Given the description of an element on the screen output the (x, y) to click on. 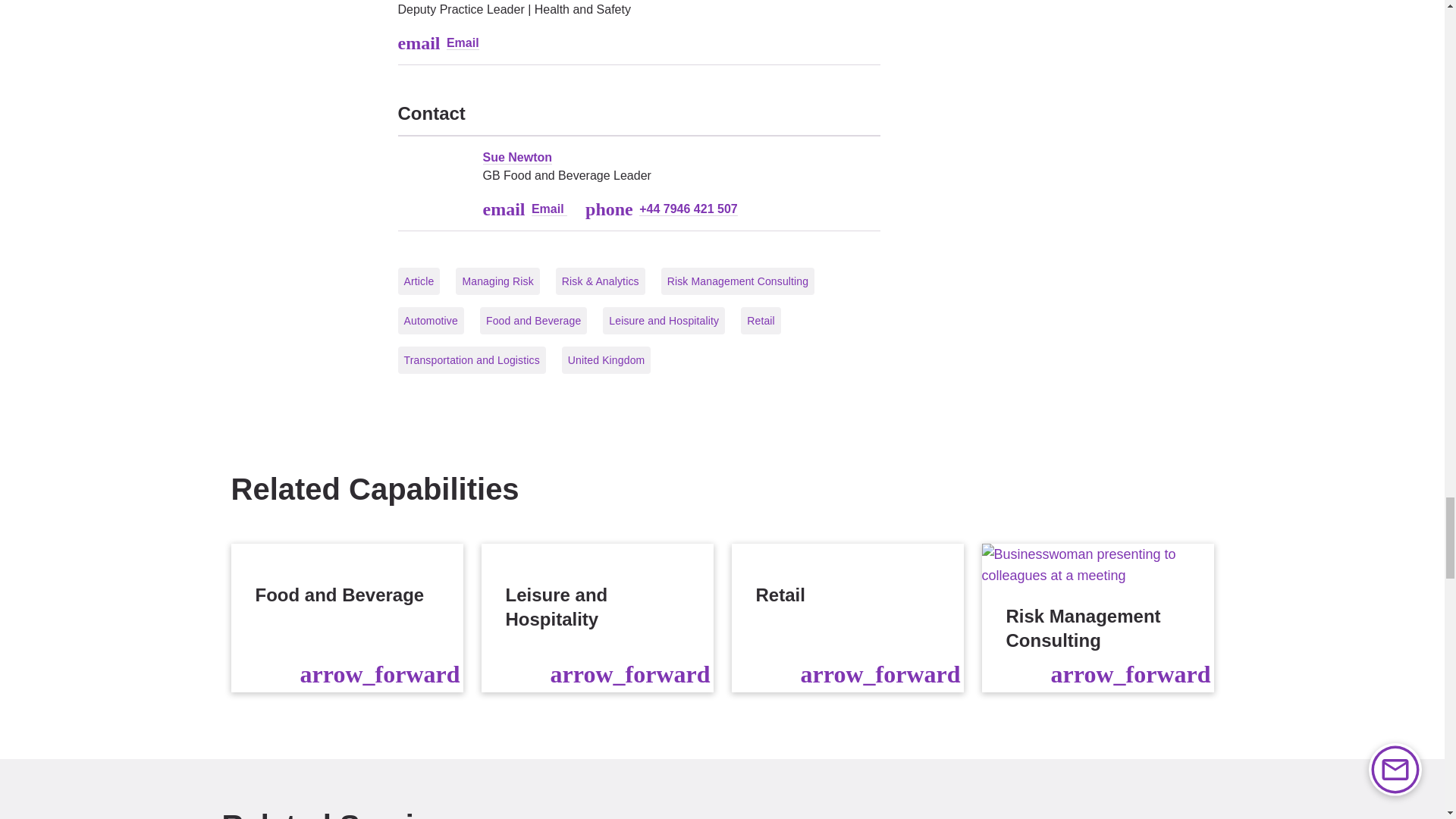
Risk Management Consulting (1096, 617)
Food and Beverage (346, 617)
Retail (846, 617)
Leisure and Hospitality (596, 617)
